Given the description of an element on the screen output the (x, y) to click on. 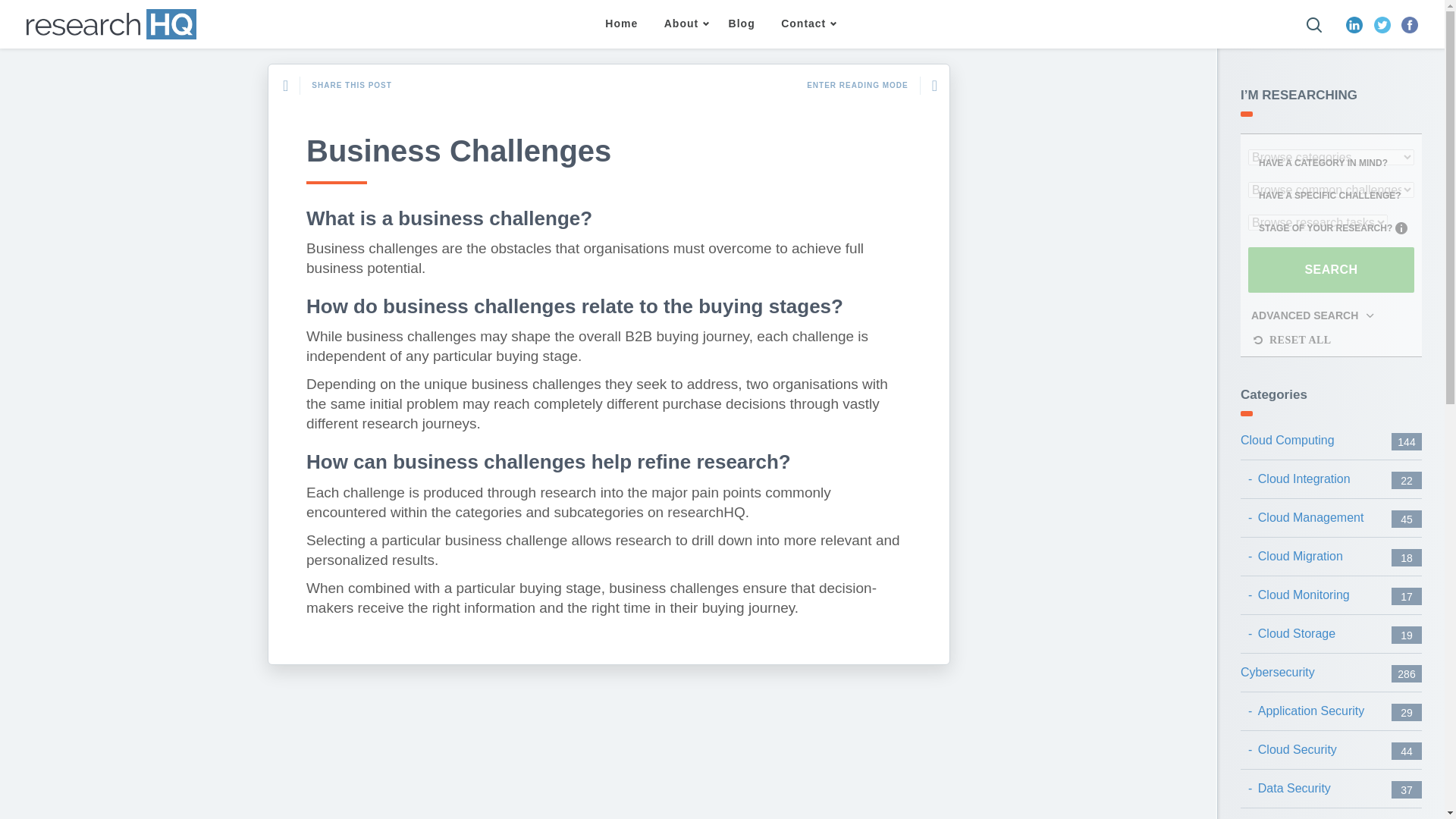
Contact (805, 23)
About (682, 23)
Home (621, 23)
Blog (742, 23)
